Given the description of an element on the screen output the (x, y) to click on. 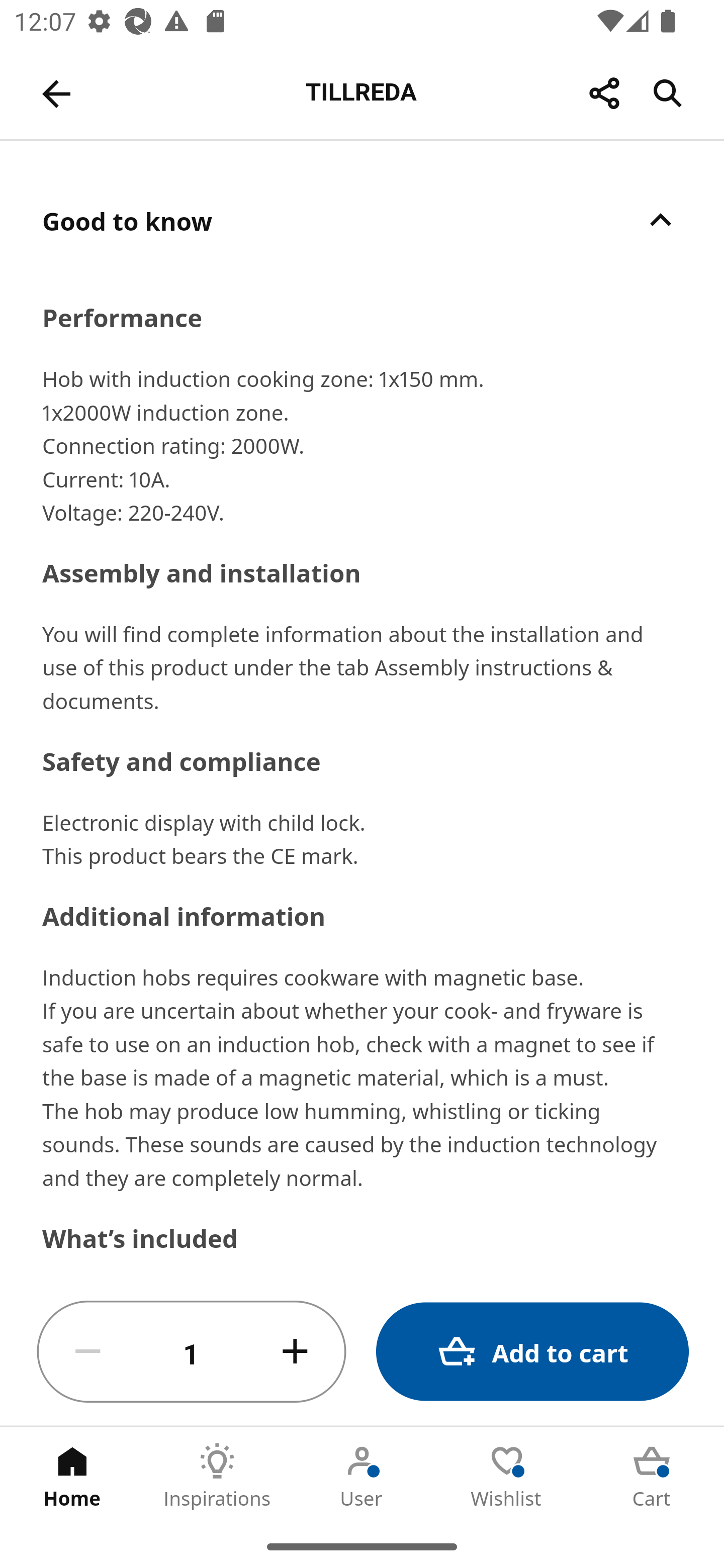
Good to know (361, 219)
Add to cart (531, 1352)
1 (191, 1352)
Home
Tab 1 of 5 (72, 1476)
Inspirations
Tab 2 of 5 (216, 1476)
User
Tab 3 of 5 (361, 1476)
Wishlist
Tab 4 of 5 (506, 1476)
Cart
Tab 5 of 5 (651, 1476)
